Given the description of an element on the screen output the (x, y) to click on. 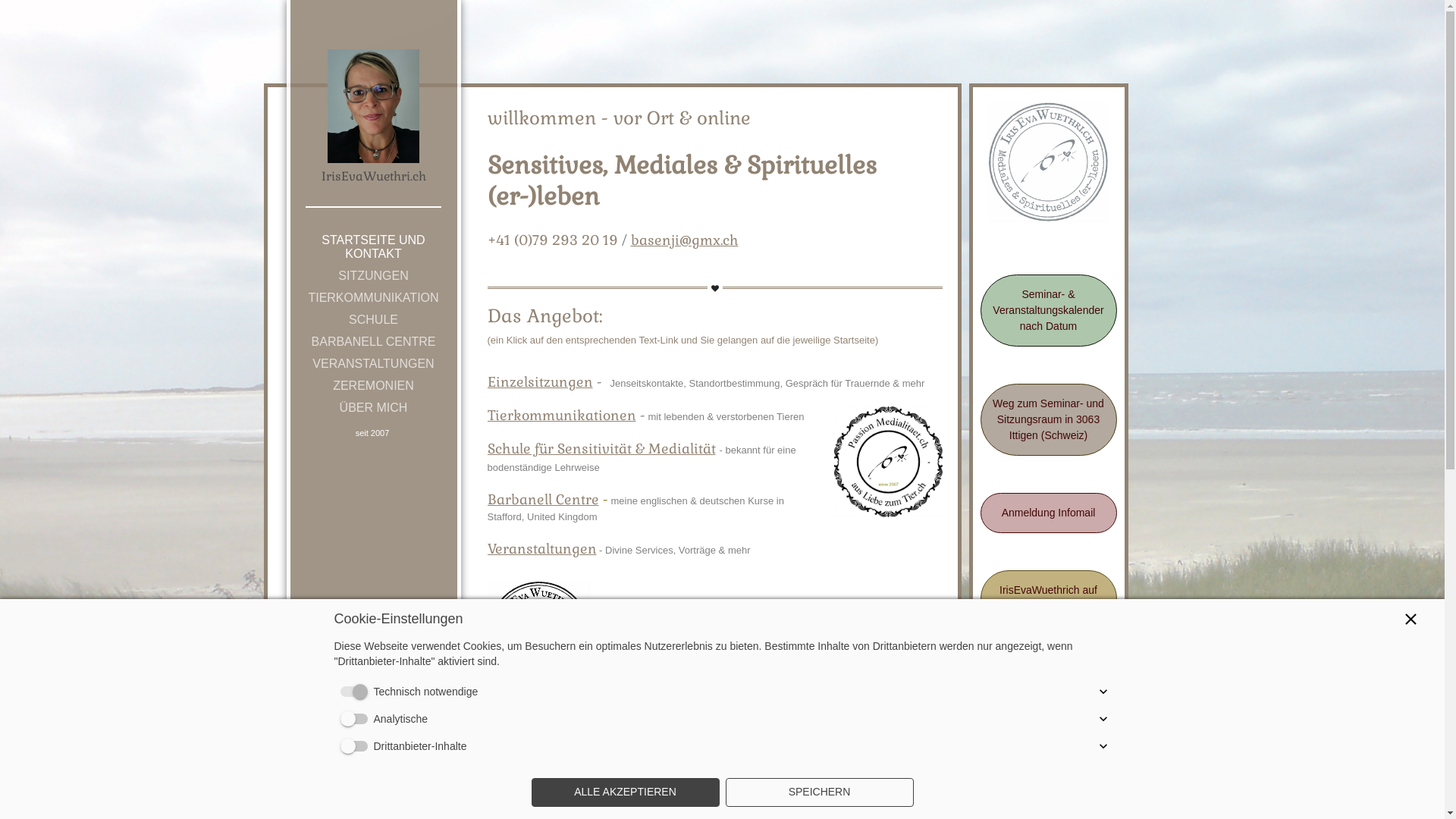
ALLE AKZEPTIEREN Element type: text (624, 792)
Zeremonien des Lebens Element type: text (680, 627)
Iris Eva Wuethrich OSNU Element type: text (639, 752)
Anmeldung Infomail Element type: text (1047, 512)
IrisEvaWuethrich auf Instagram folgen Element type: text (1047, 598)
SPEICHERN Element type: text (818, 792)
SCHULE Element type: text (372, 319)
SITZUNGEN Element type: text (372, 275)
Weg zum Seminar- und Sitzungsraum in 3063 Ittigen (Schweiz) Element type: text (1047, 419)
Einzelsitzungen Element type: text (539, 381)
Direktnachricht Element type: text (1047, 698)
basenji@gmx.ch Element type: text (684, 239)
Tierkommunikationen Element type: text (560, 414)
VERANSTALTUNGEN Element type: text (372, 363)
  Element type: text (372, 106)
Barbanell Centre Element type: text (542, 499)
STARTSEITE UND KONTAKT Element type: text (372, 246)
BARBANELL CENTRE Element type: text (372, 341)
Seminar- & Veranstaltungskalender nach Datum Element type: text (1047, 310)
TIERKOMMUNIKATION Element type: text (372, 297)
ZEREMONIEN Element type: text (372, 385)
Veranstaltungen Element type: text (541, 548)
